Given the description of an element on the screen output the (x, y) to click on. 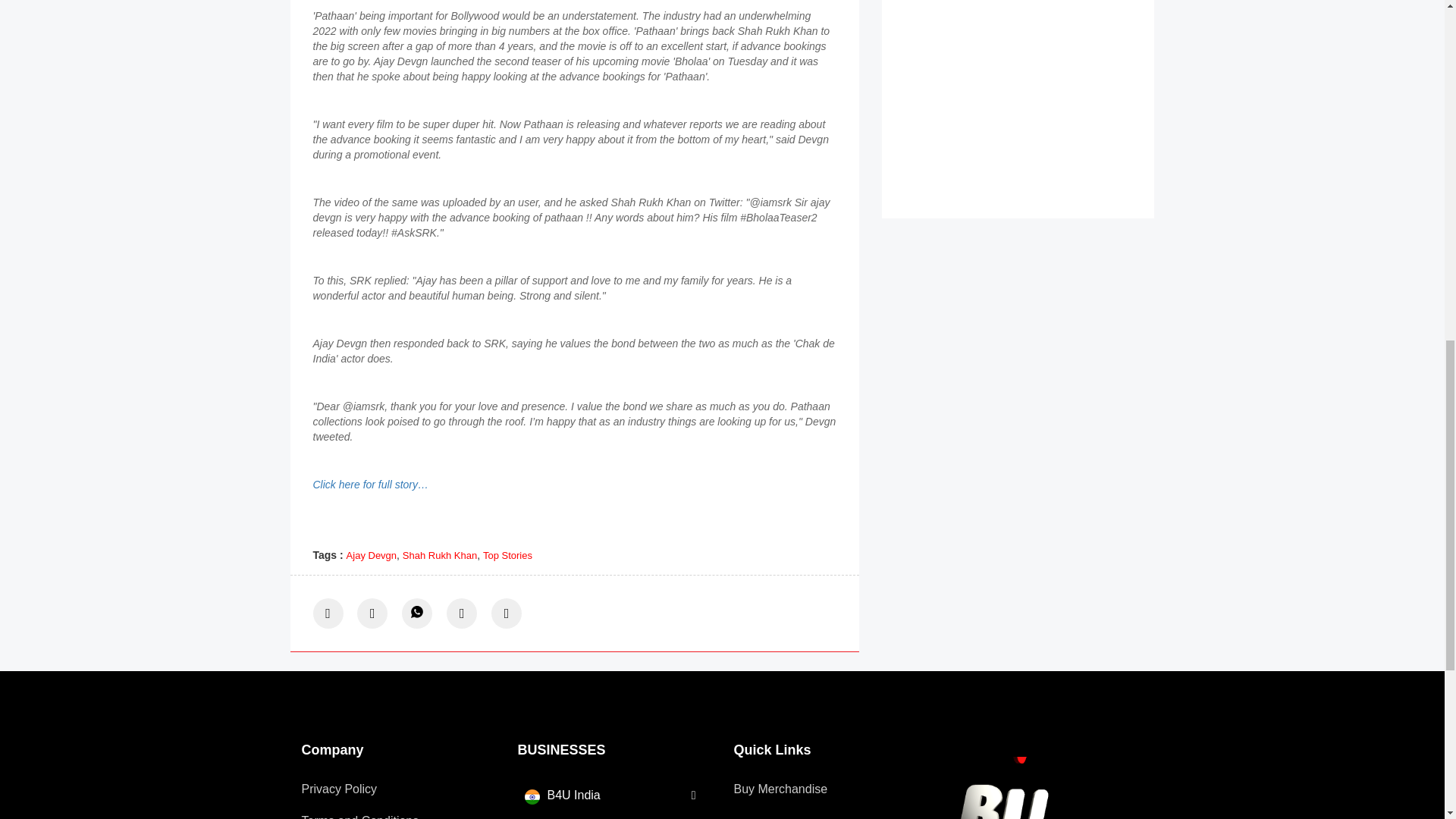
Ajay Devgn (371, 555)
Top Stories (507, 555)
Shah Rukh Khan (440, 555)
